Given the description of an element on the screen output the (x, y) to click on. 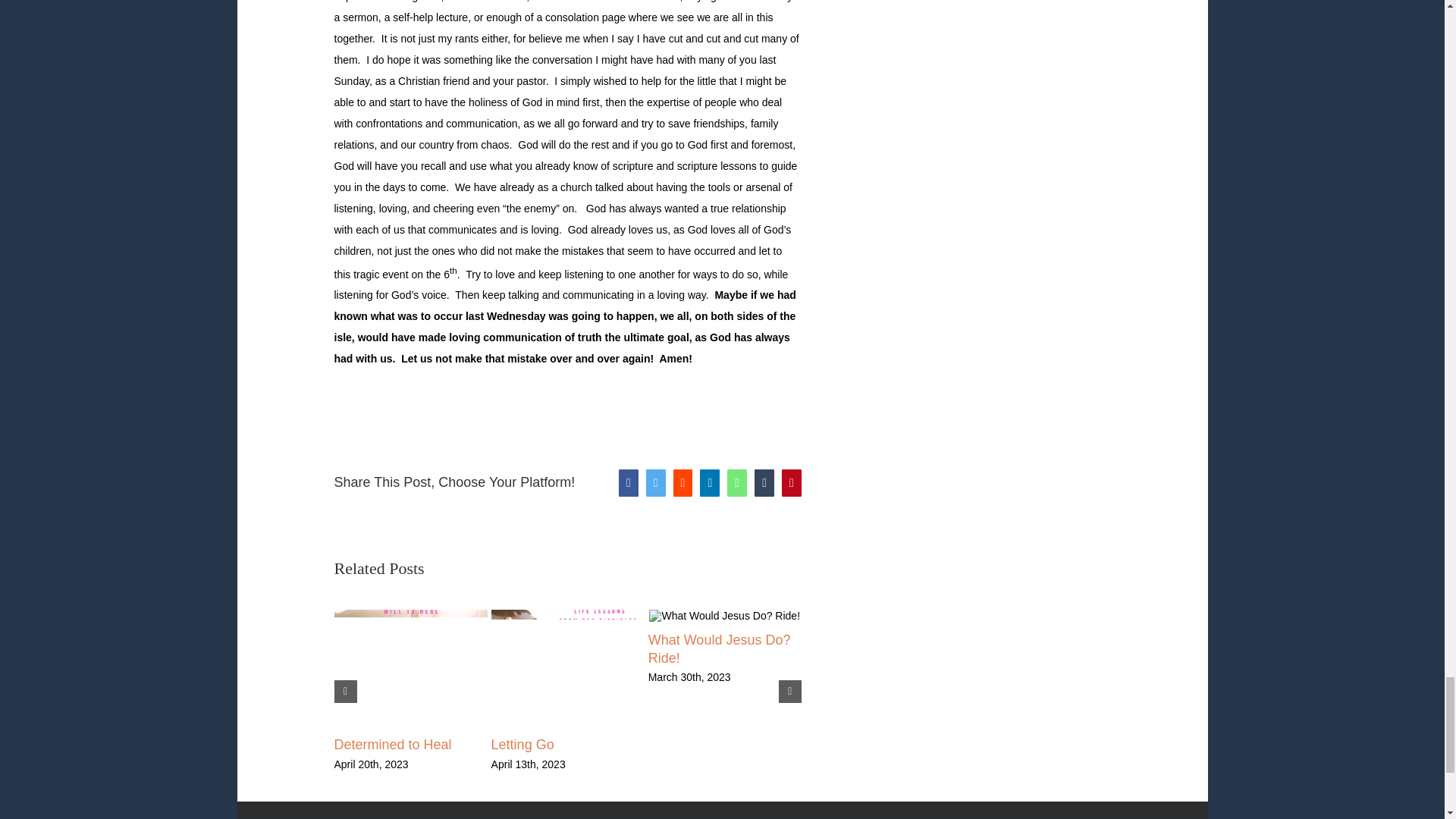
Determined to Heal (392, 744)
What Would Jesus Do? Ride! (718, 648)
Determined to Heal (392, 744)
Letting Go (523, 744)
